Given the description of an element on the screen output the (x, y) to click on. 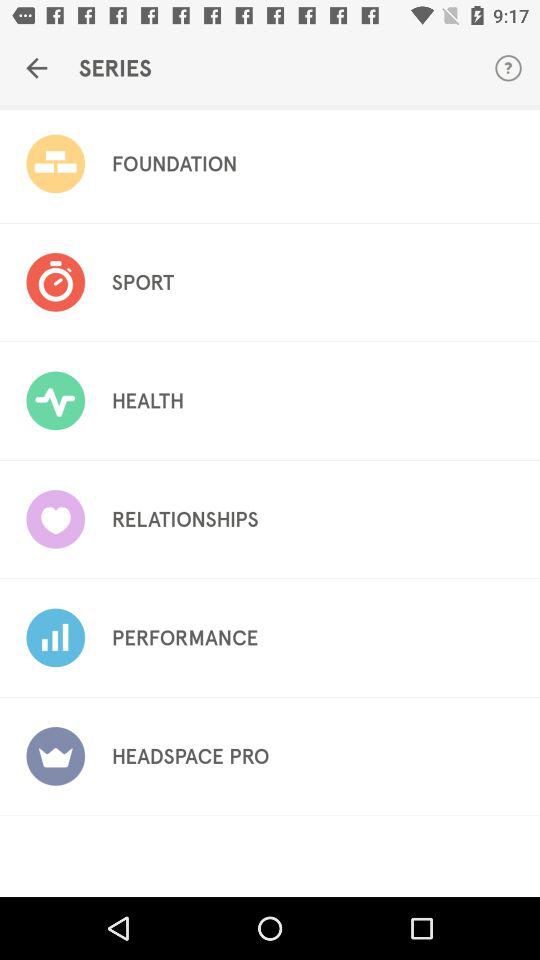
turn on the item next to the series (508, 67)
